Given the description of an element on the screen output the (x, y) to click on. 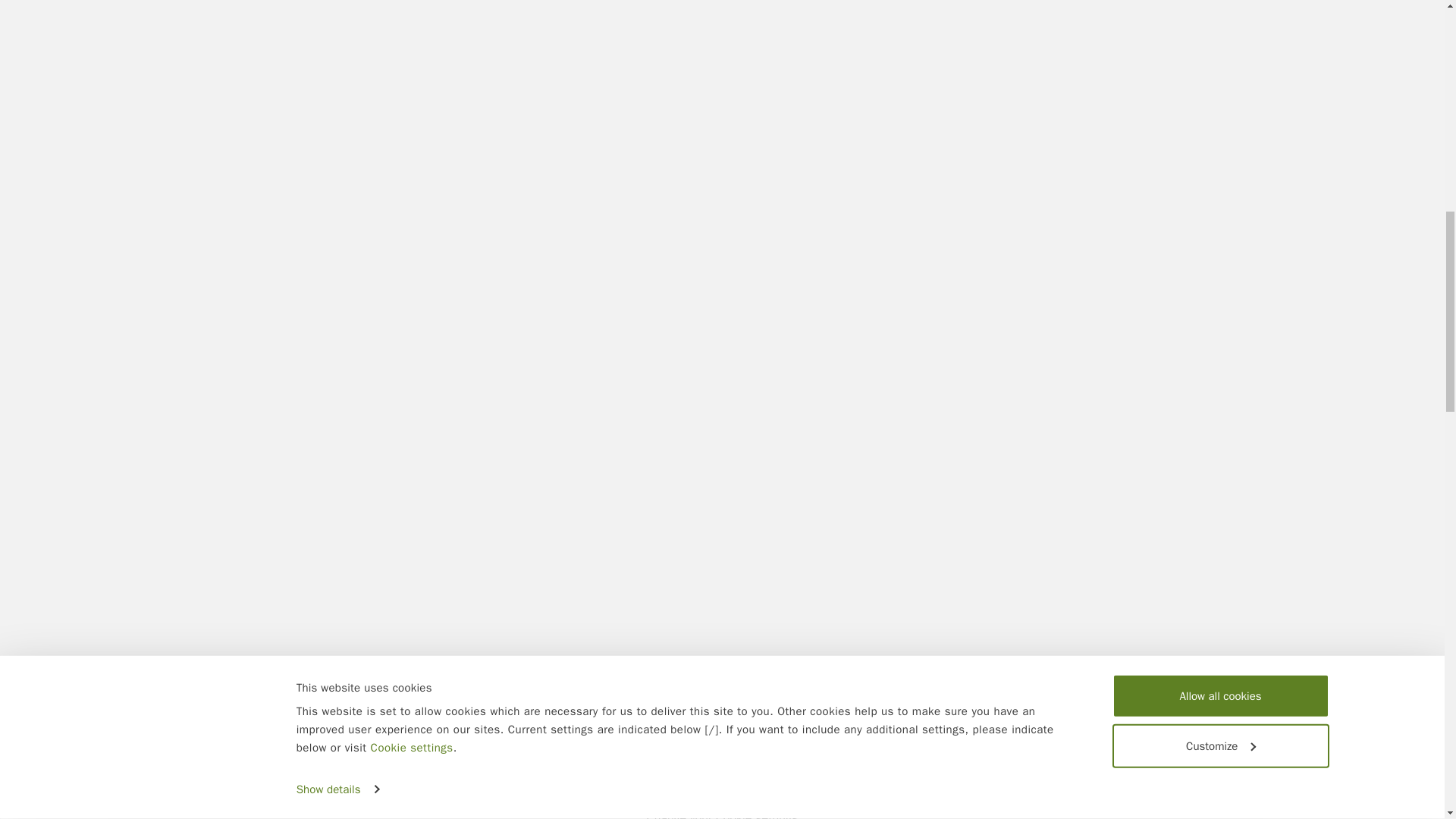
Change your Cookie settings (721, 814)
